Given the description of an element on the screen output the (x, y) to click on. 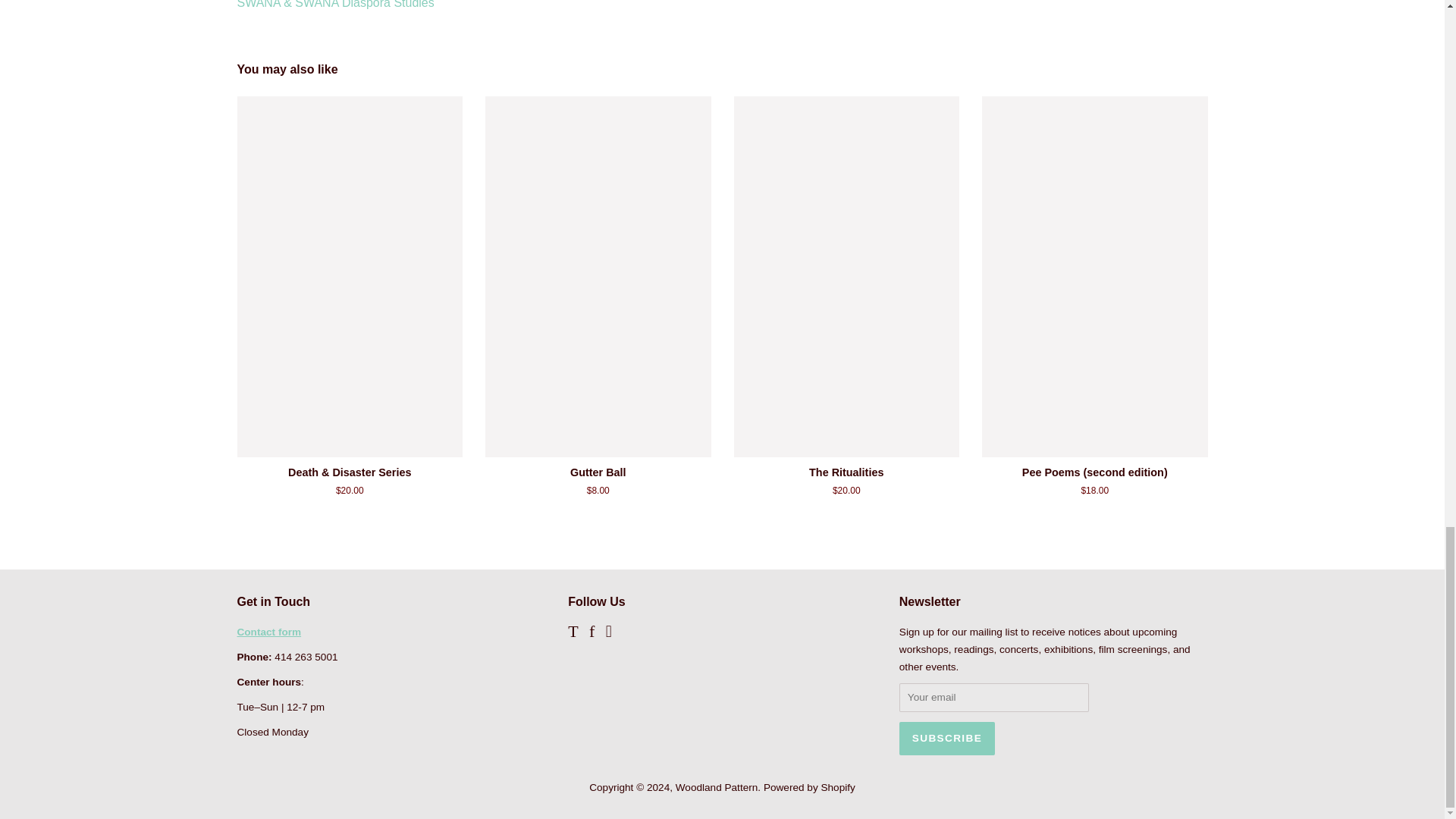
Woodland Pattern (716, 787)
Powered by Shopify (809, 787)
Subscribe (946, 738)
Subscribe (946, 738)
Contact form (268, 632)
